Given the description of an element on the screen output the (x, y) to click on. 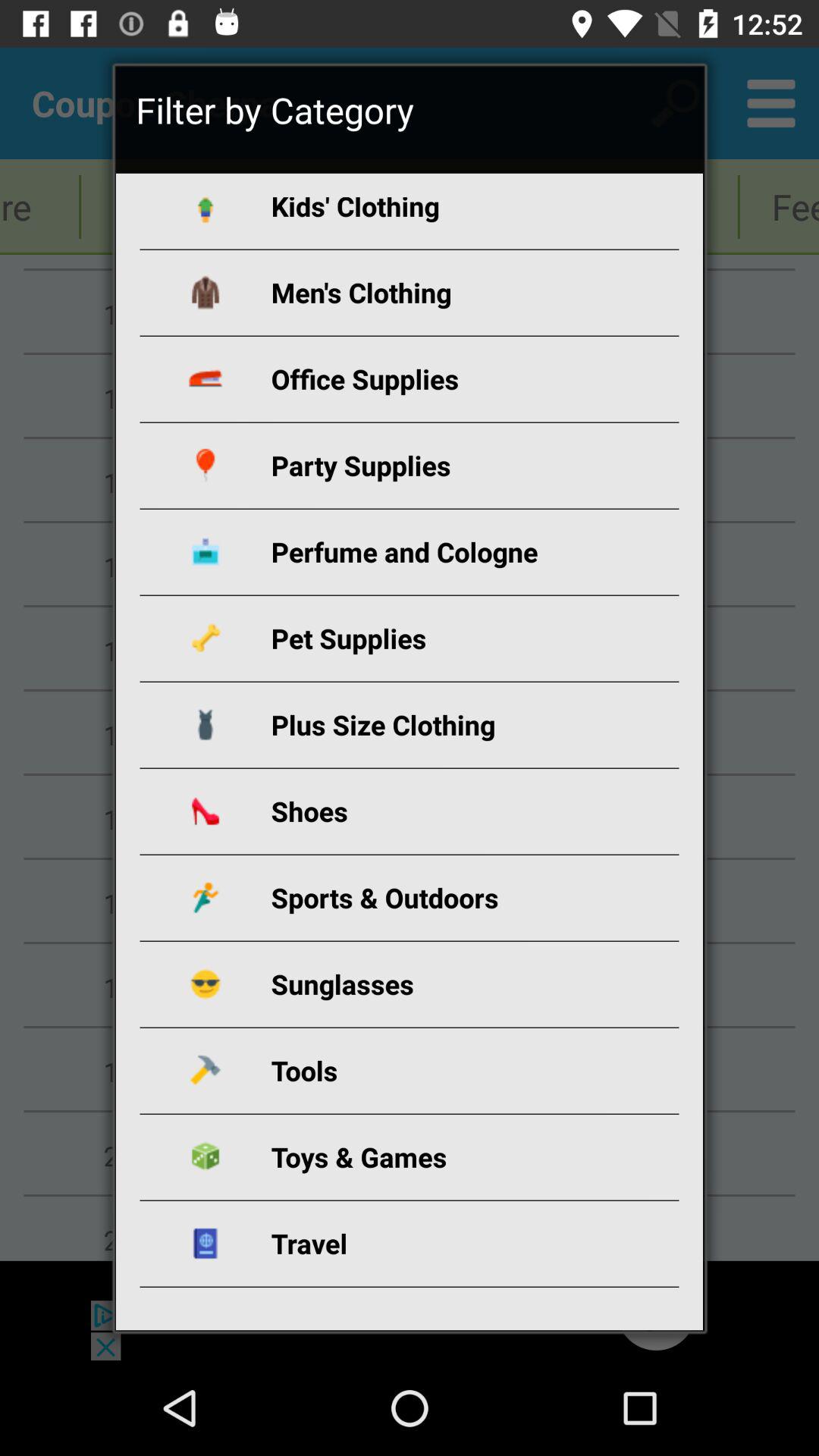
press item below the sunglasses icon (427, 1070)
